Given the description of an element on the screen output the (x, y) to click on. 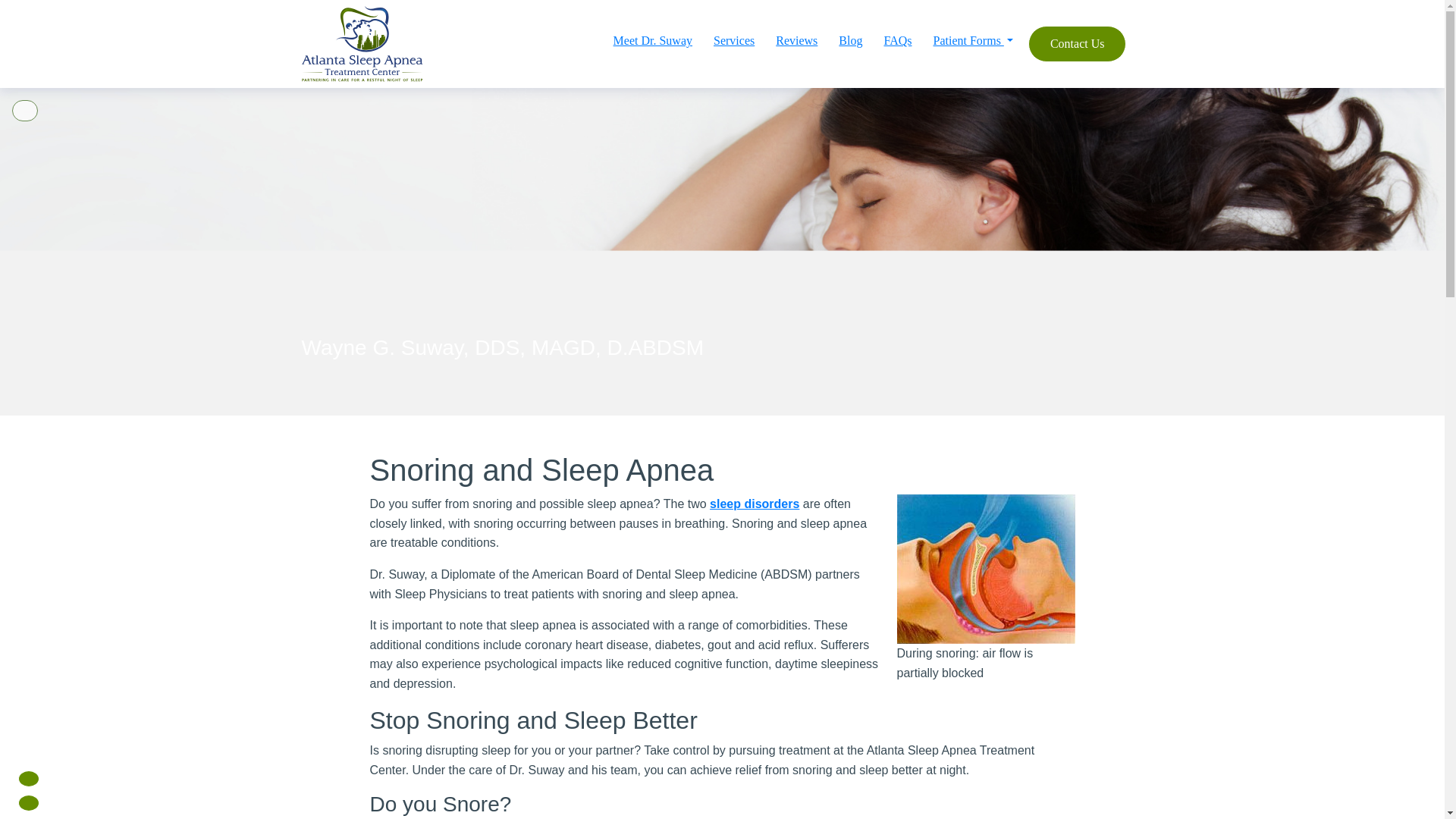
Contact Us (1076, 43)
Atlanta GA Sleep Disorder Treatment (754, 503)
Reviews (797, 40)
sleep disorders (754, 503)
Services (733, 40)
Meet Dr. Suway (652, 40)
Blog (849, 40)
Skip to main content (21, 9)
Switch to high color contrast version of the website (24, 110)
FAQs (897, 40)
